Given the description of an element on the screen output the (x, y) to click on. 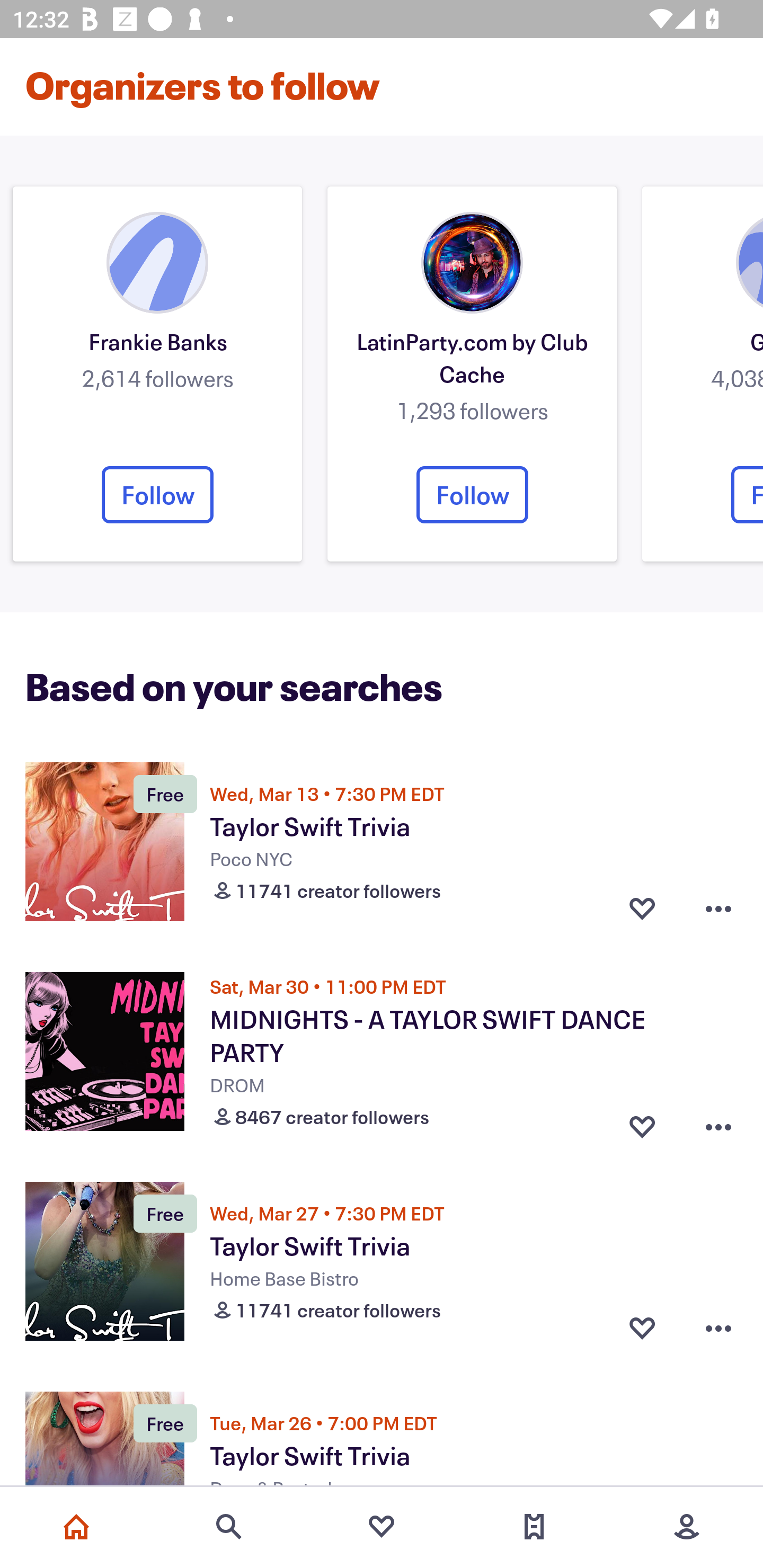
Follow Organizer's follow button (157, 494)
Follow Organizer's follow button (471, 494)
Favorite button (642, 908)
Overflow menu button (718, 908)
Favorite button (642, 1123)
Overflow menu button (718, 1123)
Favorite button (642, 1327)
Overflow menu button (718, 1327)
Home (76, 1526)
Search events (228, 1526)
Favorites (381, 1526)
Tickets (533, 1526)
More (686, 1526)
